Given the description of an element on the screen output the (x, y) to click on. 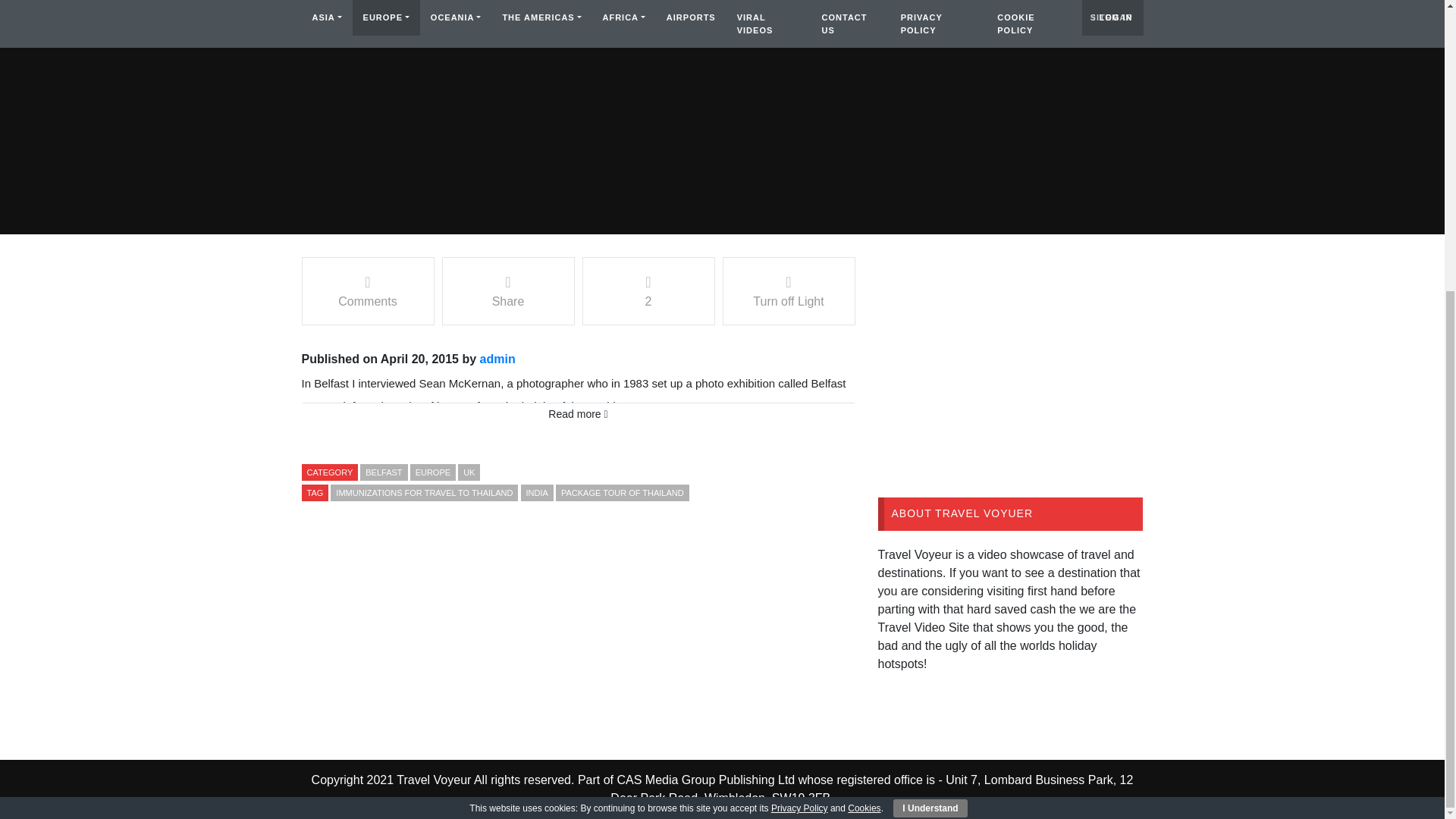
Comments (367, 291)
